Given the description of an element on the screen output the (x, y) to click on. 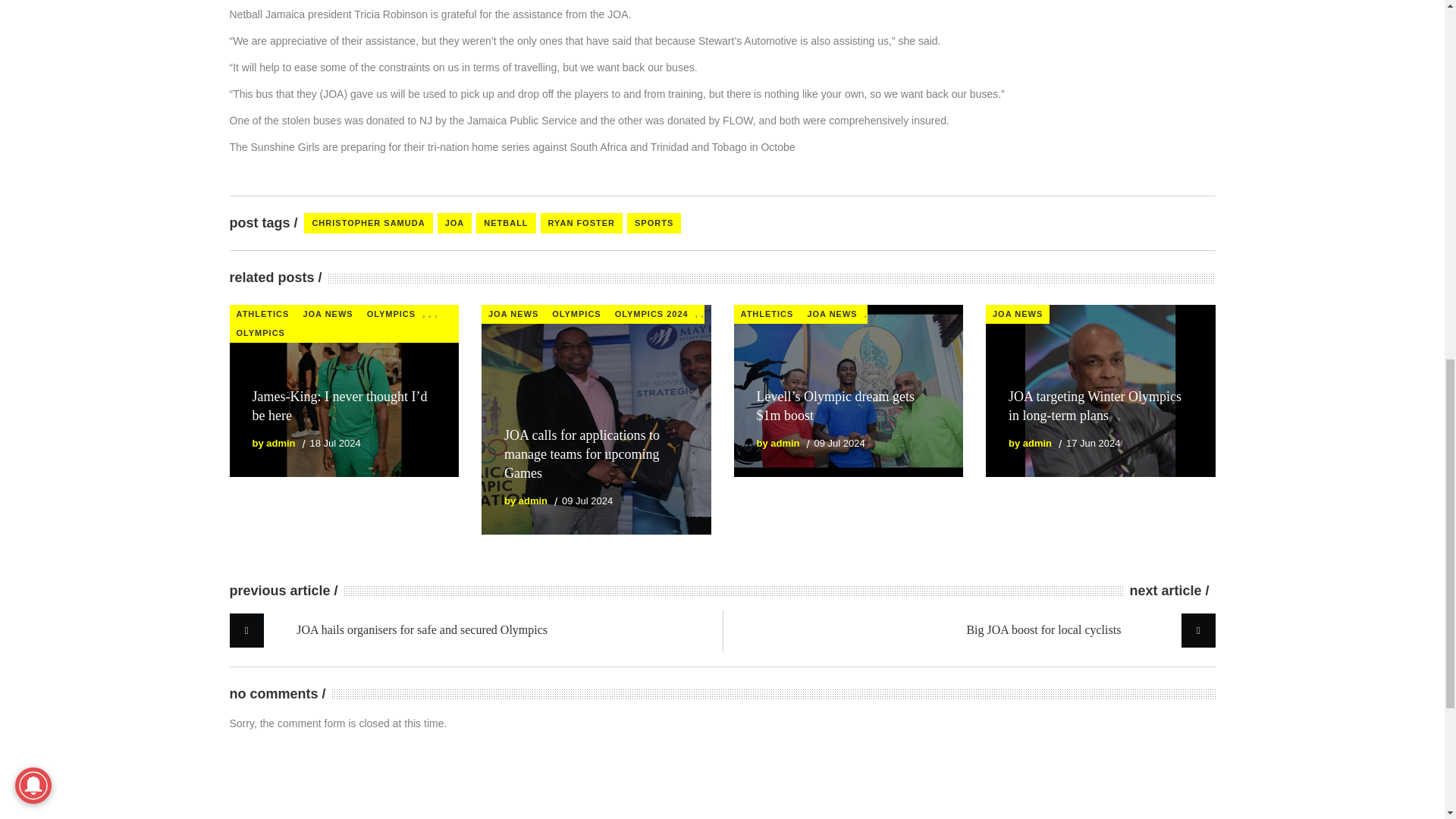
CHRISTOPHER SAMUDA (368, 222)
by admin (273, 442)
ATHLETICS (261, 313)
JOA NEWS (512, 313)
JOA (454, 222)
SPORTS (654, 222)
NETBALL (505, 222)
JOA NEWS (327, 313)
OLYMPICS (259, 333)
OLYMPICS (575, 313)
18 Jul 2024 (333, 442)
OLYMPICS 2024 (651, 313)
RYAN FOSTER (581, 222)
OLYMPICS (390, 313)
